Given the description of an element on the screen output the (x, y) to click on. 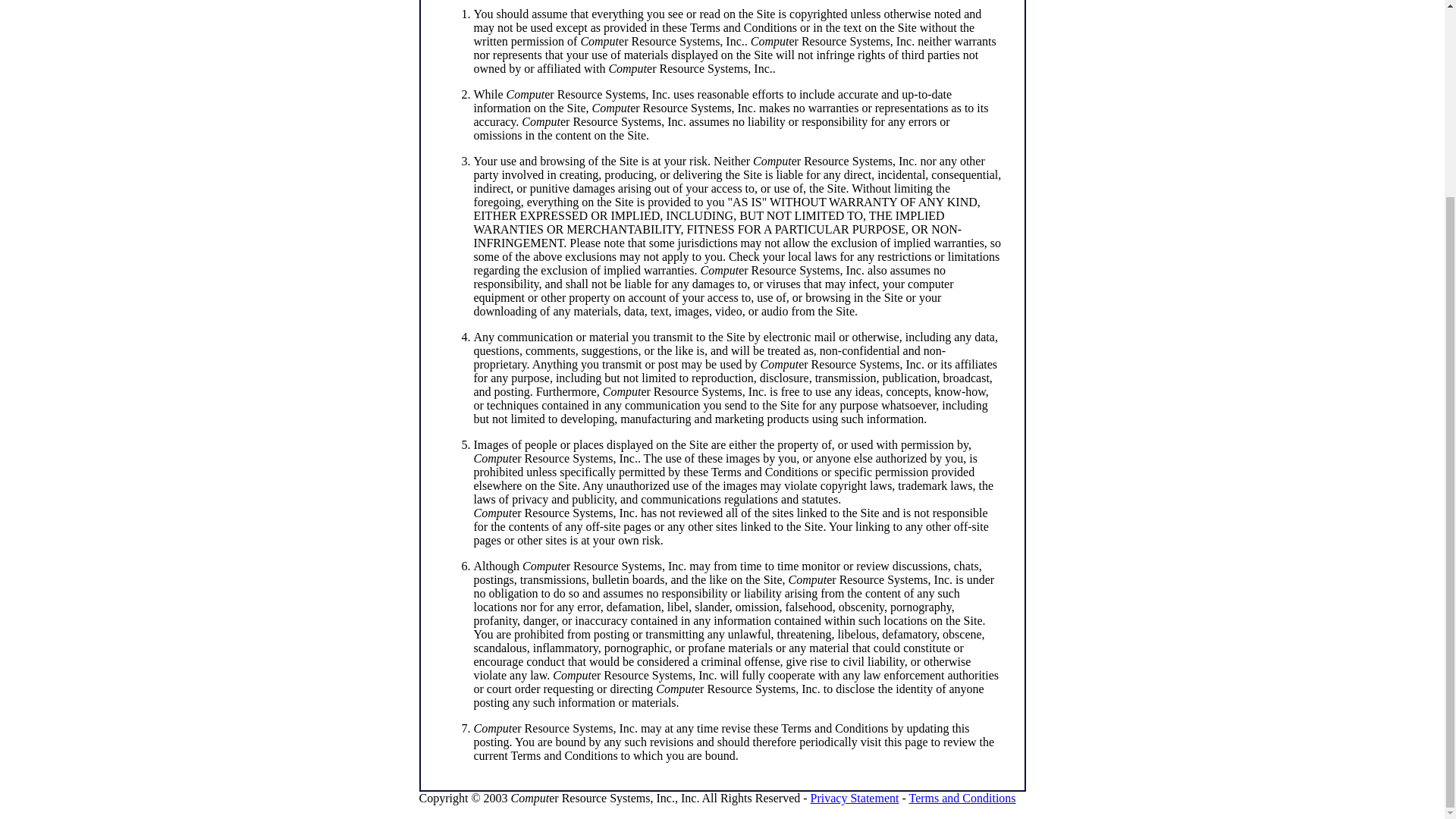
Privacy Statement (854, 797)
Terms and Conditions (961, 797)
